Given the description of an element on the screen output the (x, y) to click on. 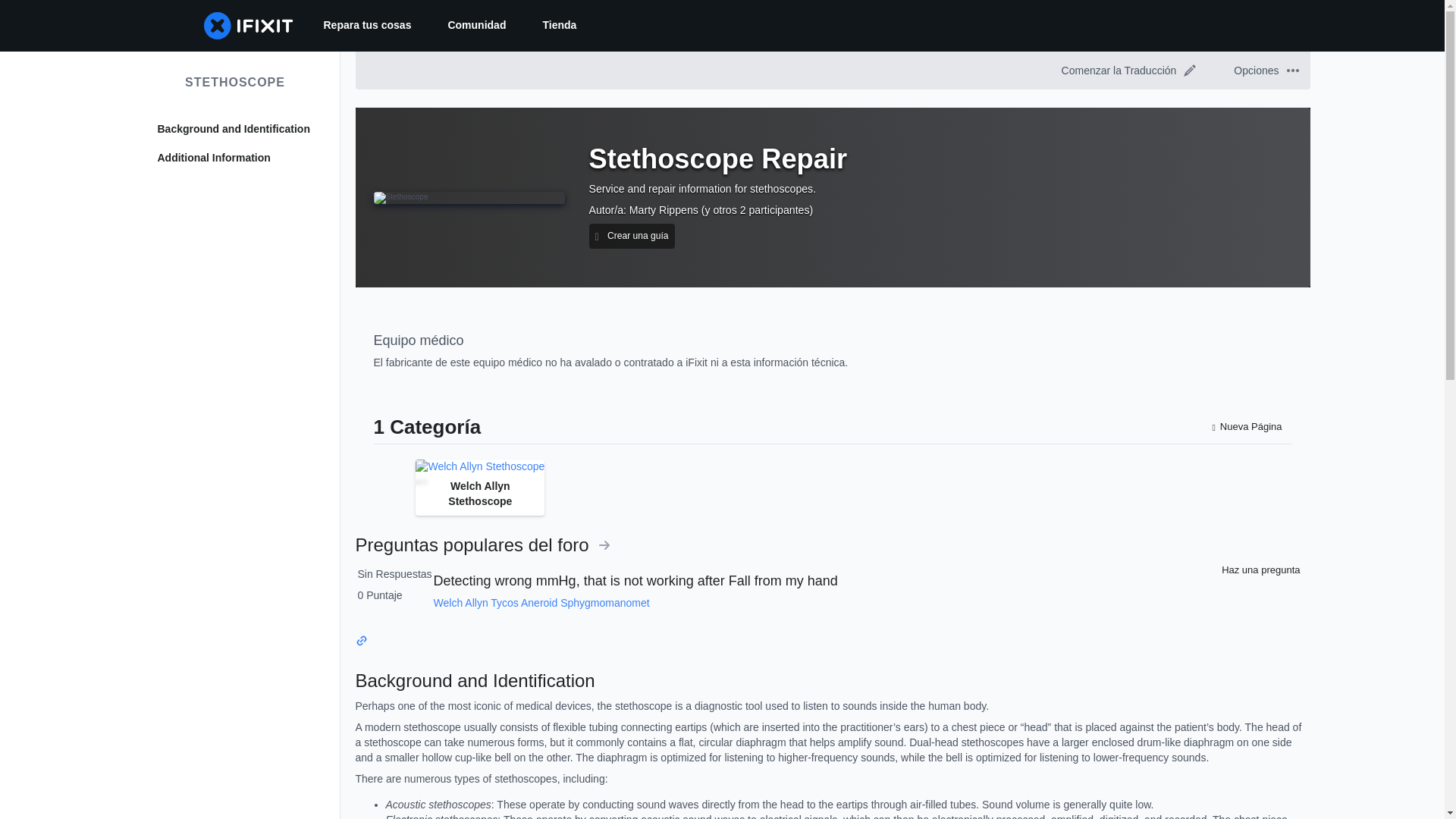
Opciones (1291, 70)
Haz una pregunta (1257, 569)
Welch Allyn Stethoscope (479, 467)
Repara tus cosas (366, 25)
Editar (1189, 70)
Marty Rippens (663, 209)
Opciones (1263, 70)
Comunidad (476, 25)
Tienda (559, 25)
STETHOSCOPE (234, 82)
Background and Identification (235, 129)
Additional Information (235, 158)
Preguntas populares del foro (482, 544)
Welch Allyn Tycos Aneroid Sphygmomanomet (541, 603)
